Given the description of an element on the screen output the (x, y) to click on. 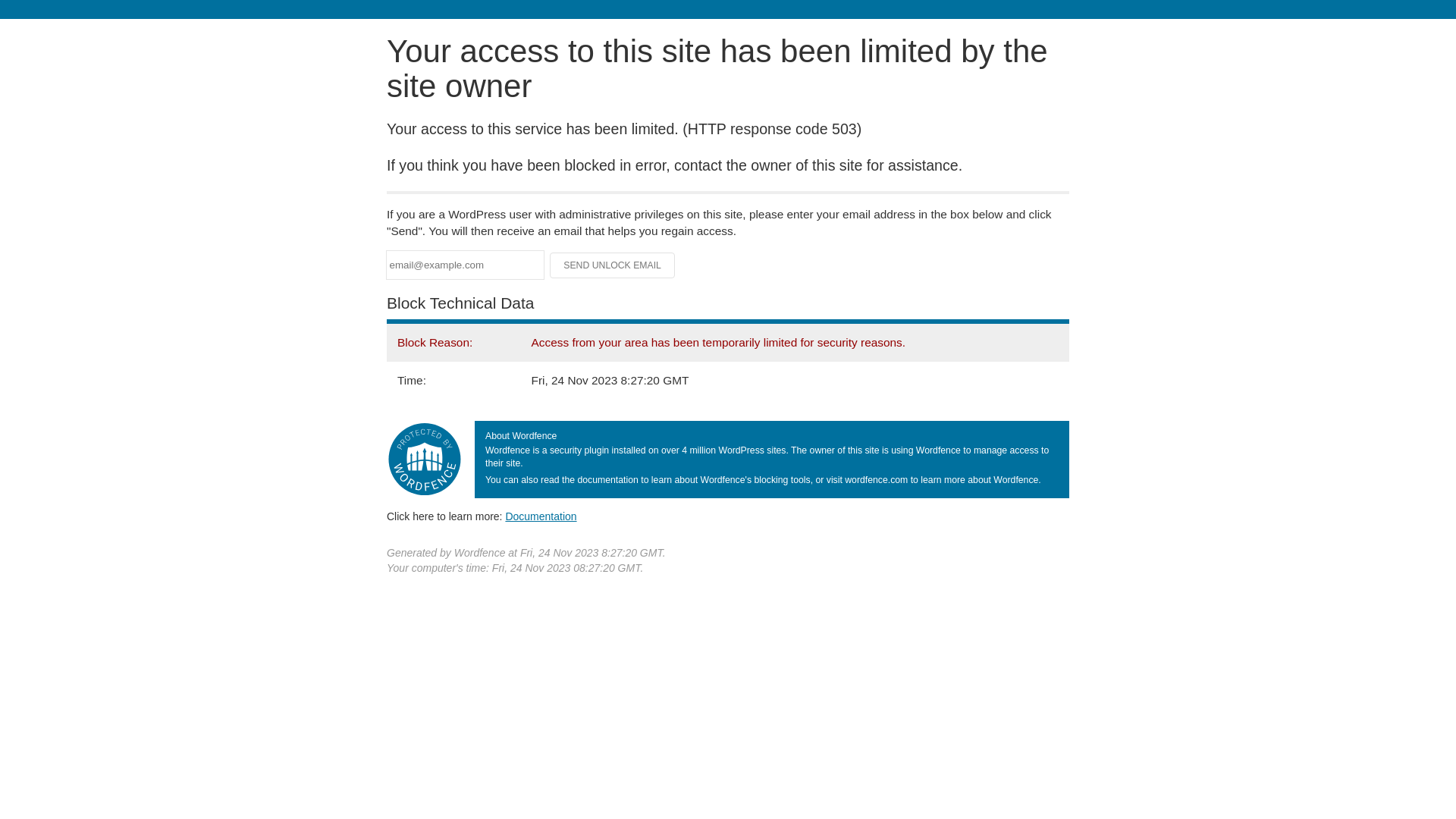
Documentation Element type: text (540, 516)
Send Unlock Email Element type: text (612, 265)
